Given the description of an element on the screen output the (x, y) to click on. 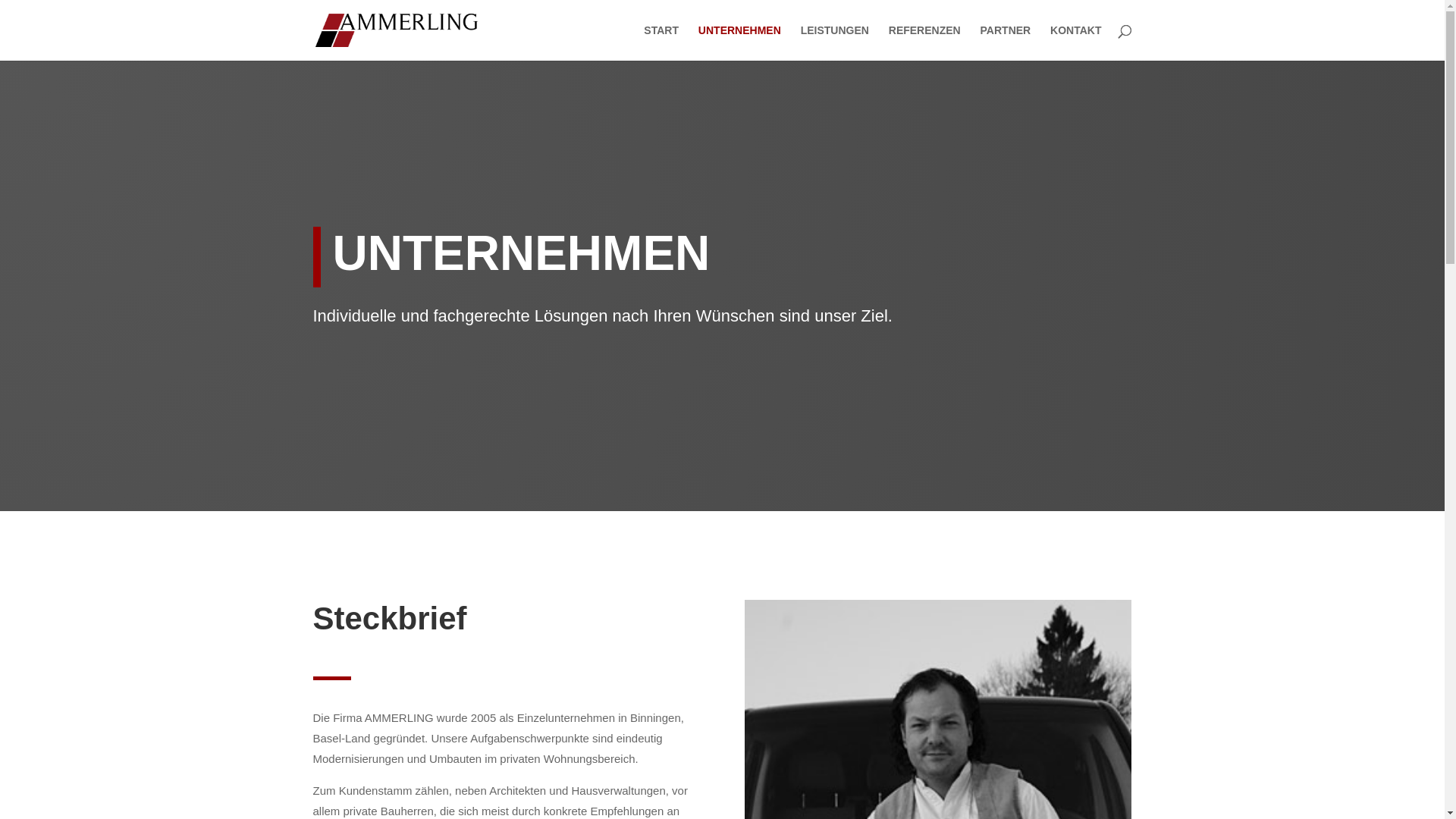
PARTNER Element type: text (1005, 42)
START Element type: text (660, 42)
UNTERNEHMEN Element type: text (739, 42)
REFERENZEN Element type: text (924, 42)
KONTAKT Element type: text (1075, 42)
LEISTUNGEN Element type: text (834, 42)
